Given the description of an element on the screen output the (x, y) to click on. 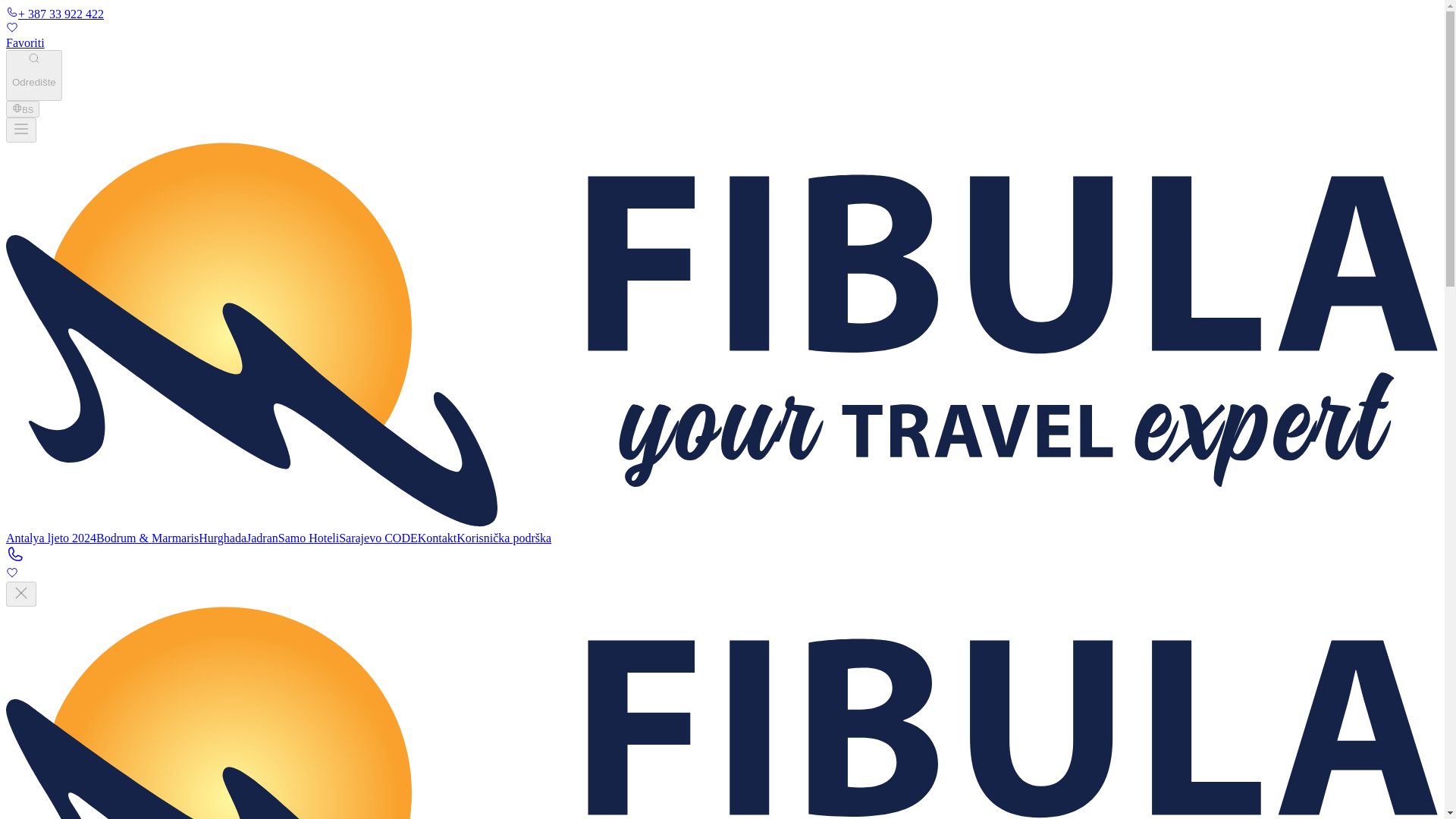
BS (22, 108)
Jadran (262, 537)
Samo Hoteli (308, 537)
Hurghada (222, 537)
Kontakt (437, 537)
Antalya ljeto 2024 (50, 537)
Sarajevo CODE (378, 537)
